Given the description of an element on the screen output the (x, y) to click on. 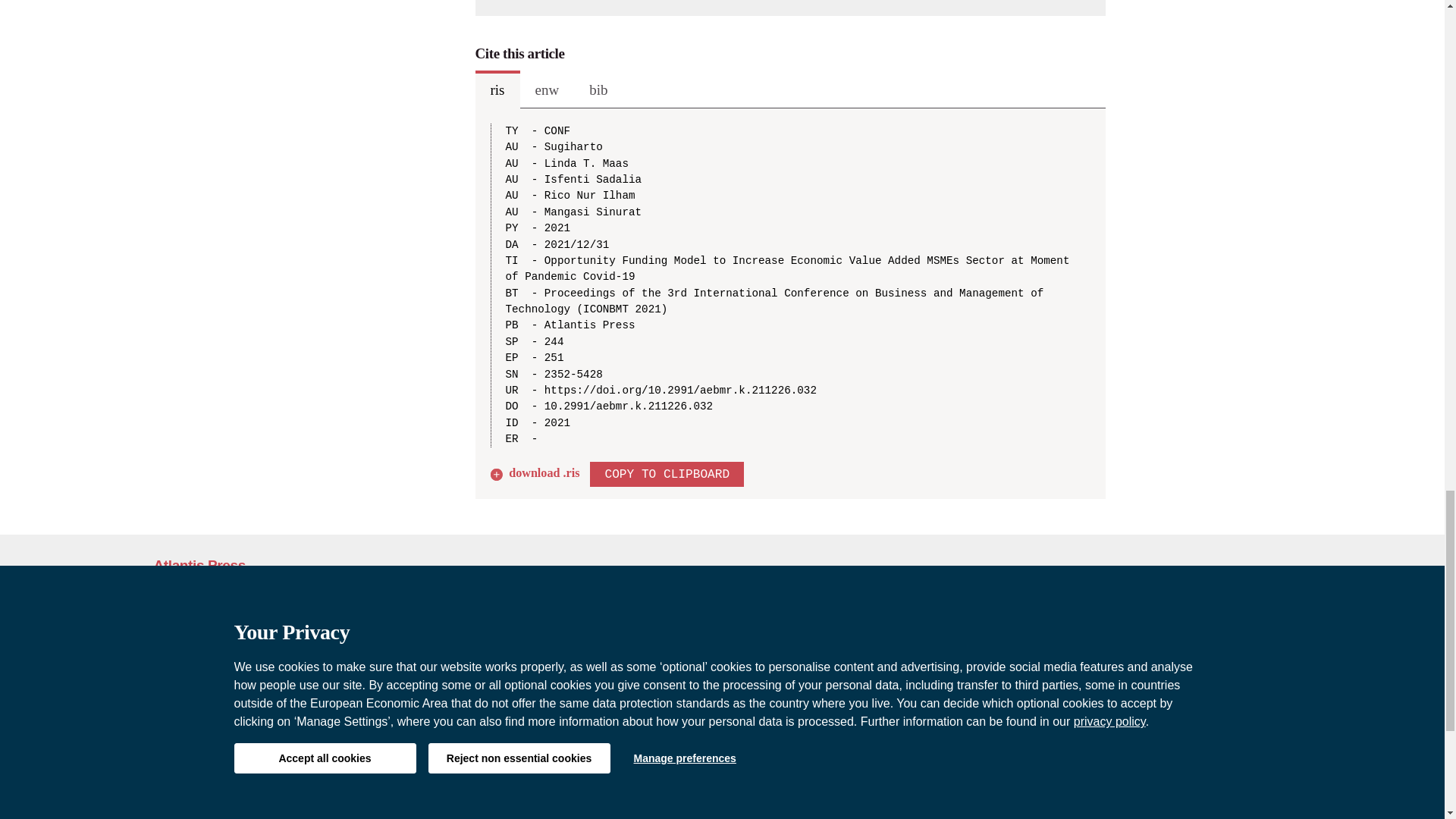
Twitter (1243, 775)
LinkedIn (1275, 775)
Facebook (1215, 775)
